Given the description of an element on the screen output the (x, y) to click on. 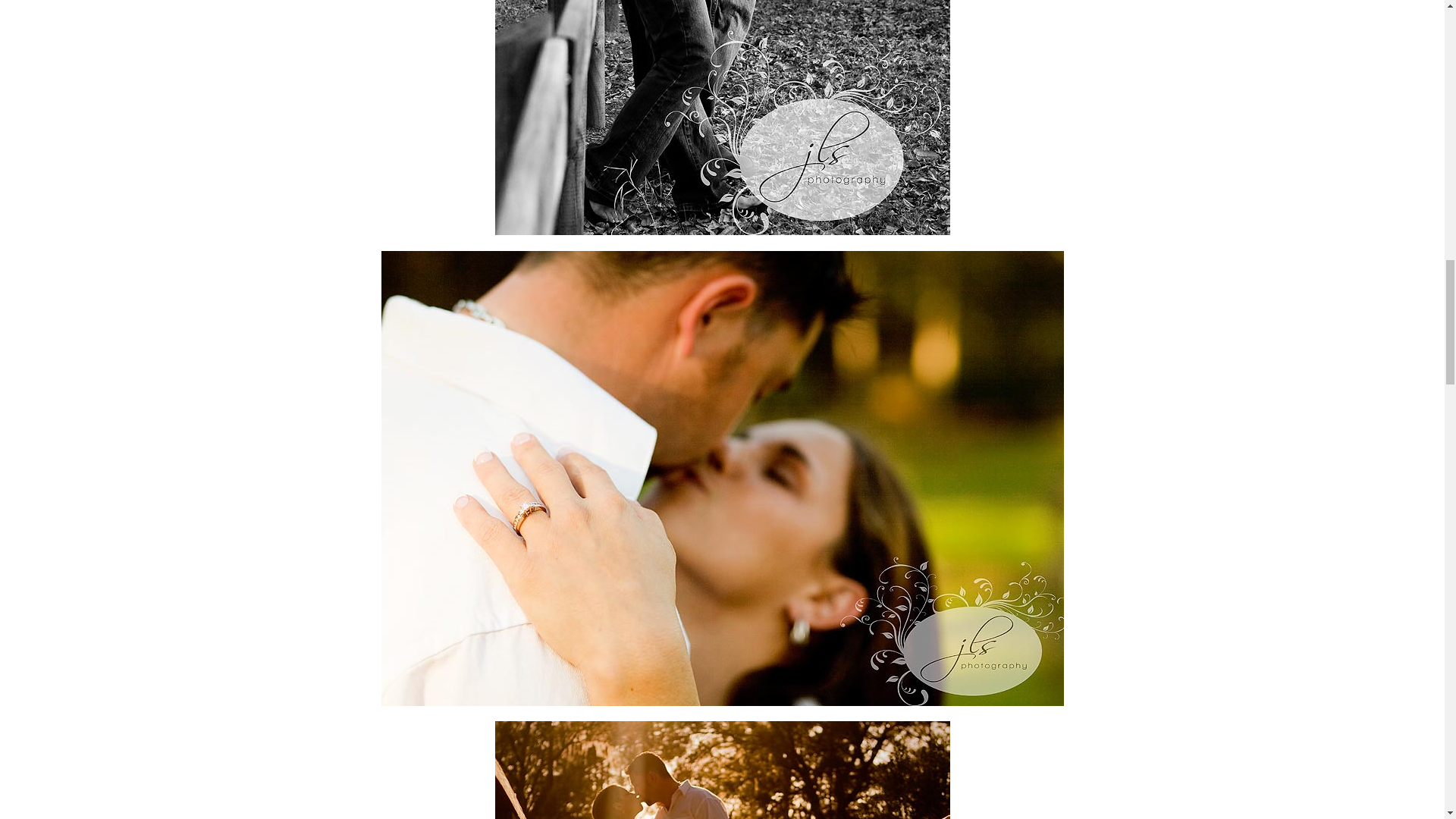
blog07 (722, 117)
blog03 (722, 770)
